Given the description of an element on the screen output the (x, y) to click on. 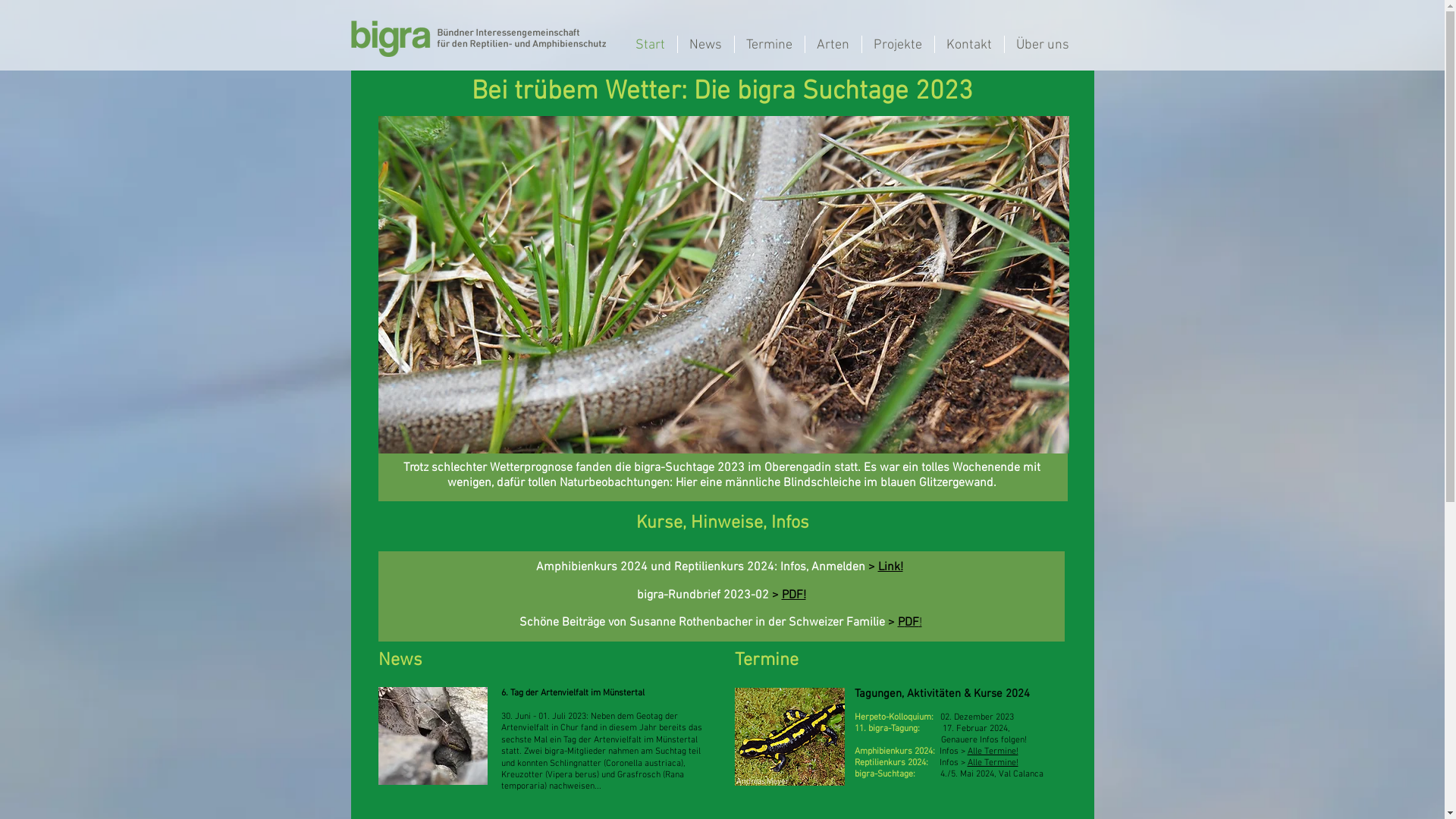
Alle Termine! Element type: text (992, 762)
Alle Termine! Element type: text (992, 751)
Start Element type: text (649, 44)
logo-bigra.png Element type: hover (477, 38)
Projekte Element type: text (897, 44)
Termine Element type: text (768, 44)
PDF! Element type: text (793, 594)
News Element type: text (705, 44)
20230212 Erste Schlange VIAS Stefan Dummermuth.jpg Element type: hover (722, 284)
Kontakt Element type: text (968, 44)
Arten Element type: text (833, 44)
Link! Element type: text (890, 566)
Feuersalamander_edited.jpg Element type: hover (789, 736)
20220702_202553_resized_20220703_0105064 Element type: hover (431, 735)
